Given the description of an element on the screen output the (x, y) to click on. 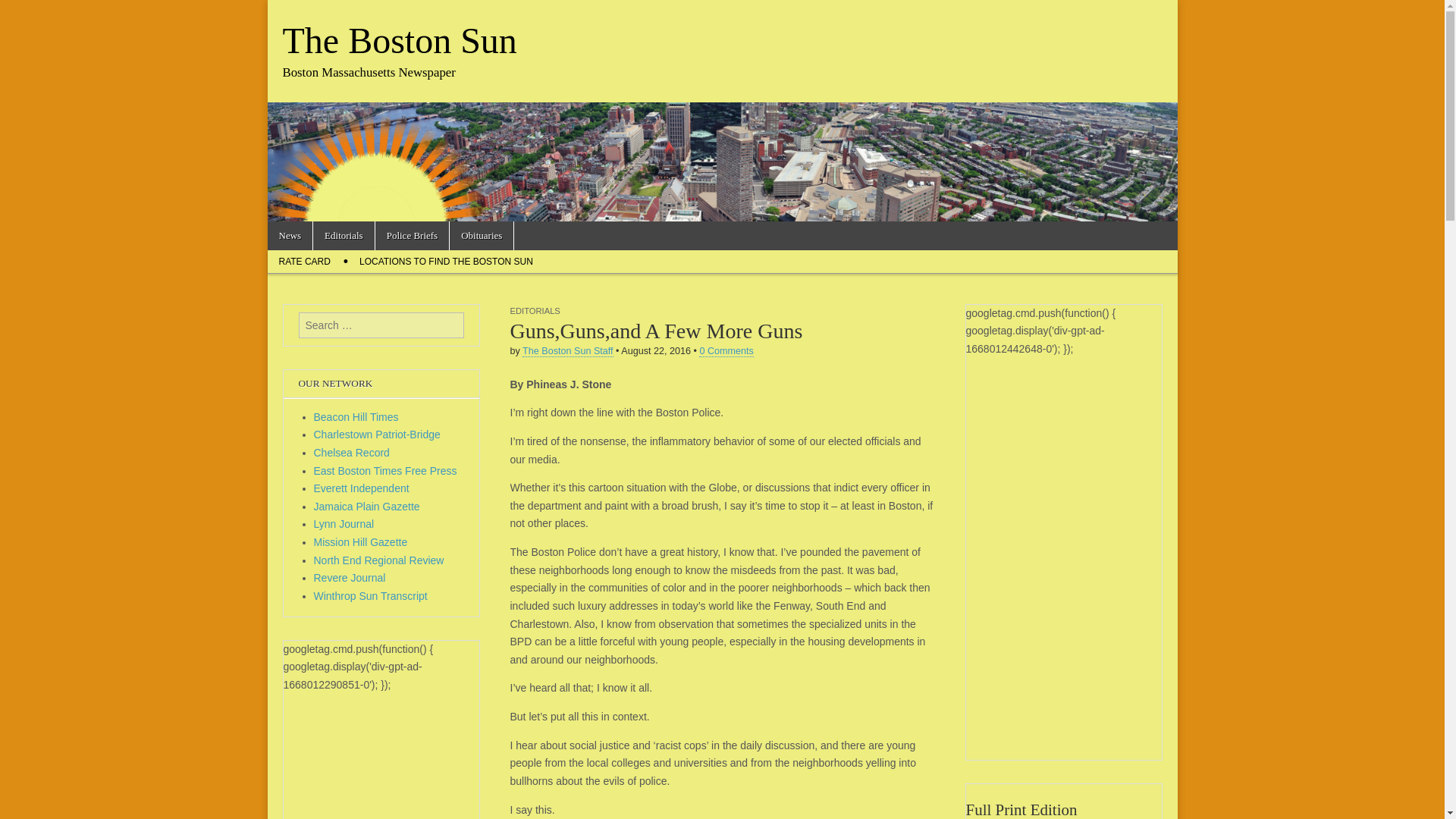
Lynn Journal (344, 523)
Charlestown Patriot-Bridge (377, 434)
Winthrop Sun Transcript (371, 595)
Revere Journal (349, 577)
Beacon Hill Times (356, 417)
Everett Independent (361, 488)
Search (23, 12)
The Boston Sun (399, 40)
Police Briefs (412, 235)
